Given the description of an element on the screen output the (x, y) to click on. 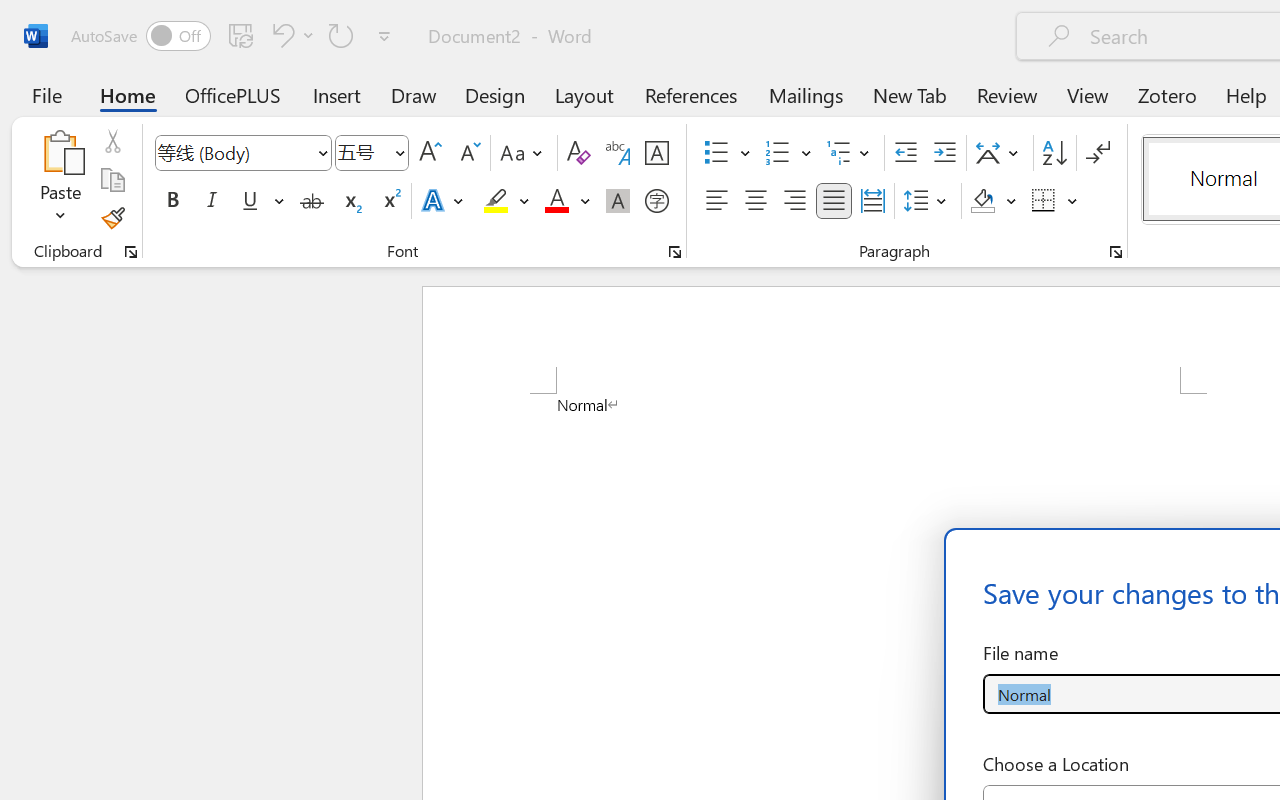
Superscript (390, 201)
Subscript (350, 201)
Underline (261, 201)
Draw (413, 94)
Font Color (567, 201)
Borders (1044, 201)
Text Highlight Color Yellow (495, 201)
Strikethrough (312, 201)
Multilevel List (850, 153)
Center (756, 201)
Enclose Characters... (656, 201)
Increase Indent (944, 153)
Undo Apply Quick Style (290, 35)
Sort... (1054, 153)
Font... (675, 252)
